Given the description of an element on the screen output the (x, y) to click on. 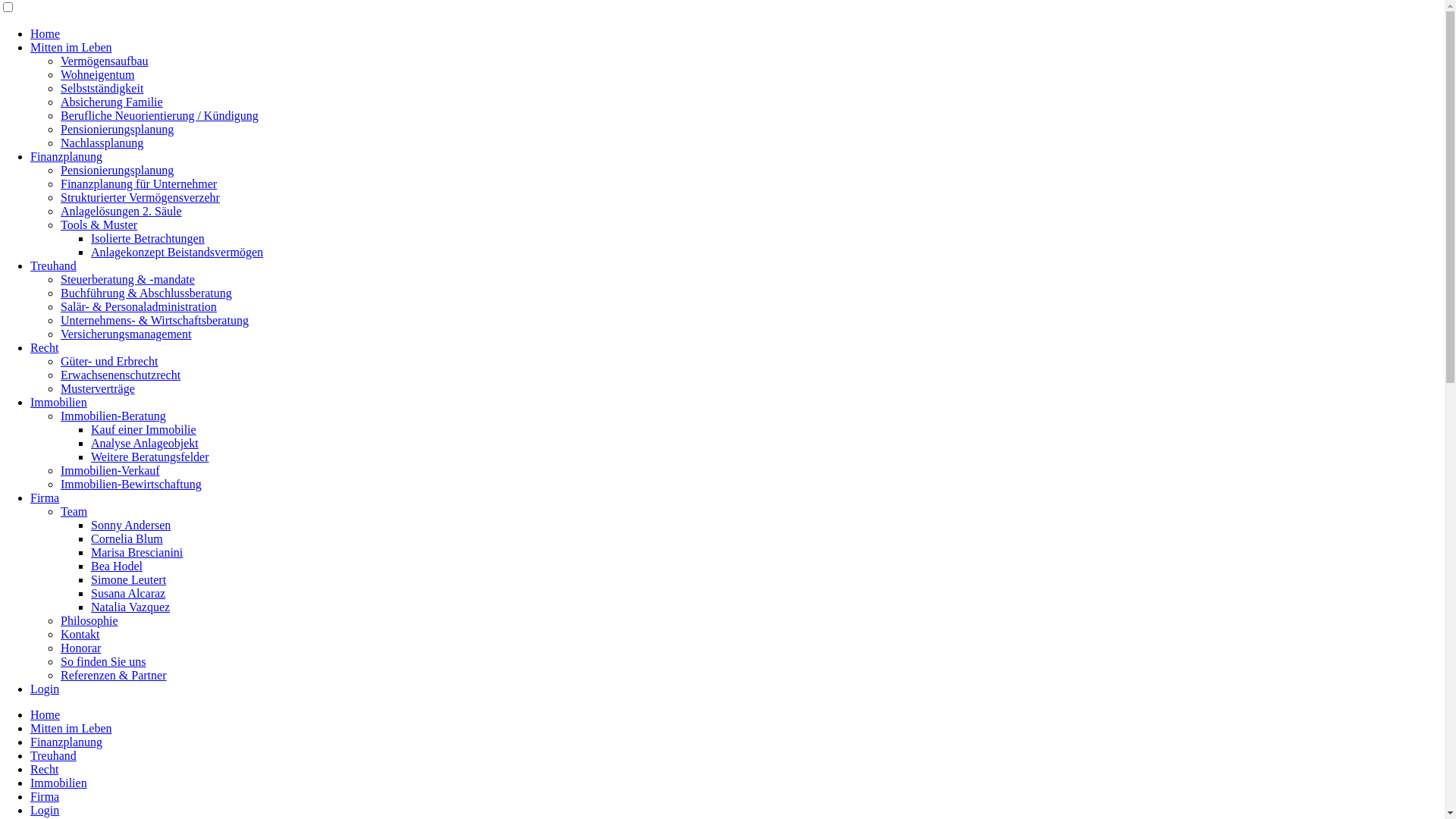
Weitere Beratungsfelder Element type: text (150, 456)
Natalia Vazquez Element type: text (130, 606)
Mitten im Leben Element type: text (71, 46)
Firma Element type: text (44, 497)
Unternehmens- & Wirtschaftsberatung Element type: text (154, 319)
Immobilien-Bewirtschaftung Element type: text (130, 483)
Simone Leutert Element type: text (128, 579)
Kauf einer Immobilie Element type: text (143, 429)
So finden Sie uns Element type: text (102, 661)
Referenzen & Partner Element type: text (113, 674)
Immobilien Element type: text (58, 401)
Absicherung Familie Element type: text (111, 101)
Finanzplanung Element type: text (66, 156)
Versicherungsmanagement Element type: text (125, 333)
Sonny Andersen Element type: text (130, 524)
Philosophie Element type: text (89, 620)
Recht Element type: text (44, 768)
Home Element type: text (44, 714)
Isolierte Betrachtungen Element type: text (147, 238)
Mitten im Leben Element type: text (71, 727)
Pensionierungsplanung Element type: text (116, 128)
Finanzplanung Element type: text (66, 741)
Erwachsenenschutzrecht Element type: text (120, 374)
Steuerberatung & -mandate Element type: text (127, 279)
Nachlassplanung Element type: text (101, 142)
Marisa Brescianini Element type: text (136, 552)
Home Element type: text (44, 33)
Bea Hodel Element type: text (116, 565)
Team Element type: text (73, 511)
Cornelia Blum Element type: text (127, 538)
Immobilien Element type: text (58, 782)
Tools & Muster Element type: text (98, 224)
Recht Element type: text (44, 347)
Login Element type: text (44, 688)
Pensionierungsplanung Element type: text (116, 169)
Honorar Element type: text (80, 647)
Kontakt Element type: text (80, 633)
Wohneigentum Element type: text (97, 74)
Immobilien-Beratung Element type: text (113, 415)
Login Element type: text (44, 809)
Treuhand Element type: text (53, 265)
Analyse Anlageobjekt Element type: text (144, 442)
Susana Alcaraz Element type: text (128, 592)
Firma Element type: text (44, 796)
Immobilien-Verkauf Element type: text (110, 470)
Treuhand Element type: text (53, 755)
